Given the description of an element on the screen output the (x, y) to click on. 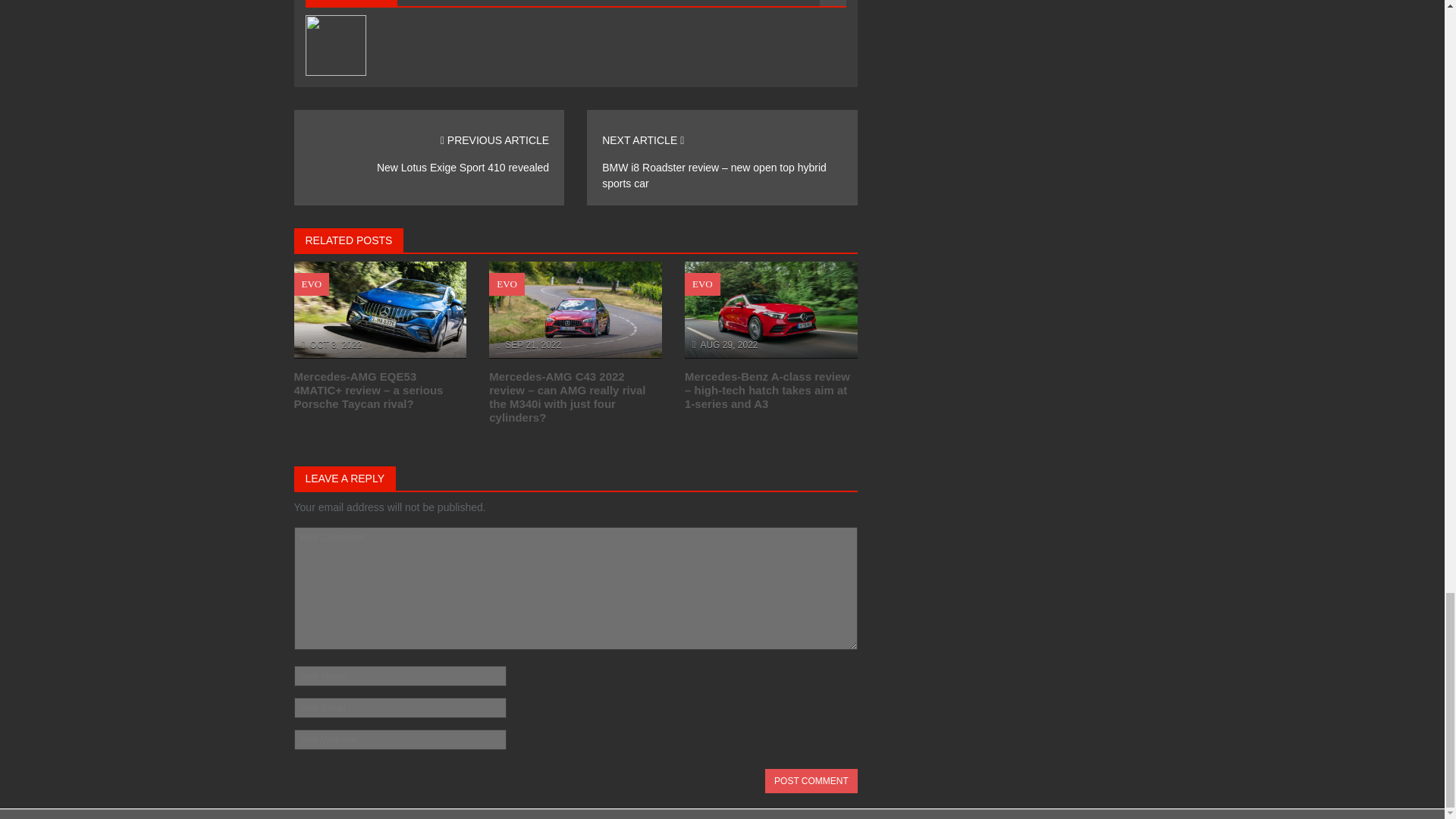
Monday, October 3, 2022, 2:40 pm (335, 344)
Post Comment (811, 781)
Monday, August 29, 2022, 3:22 pm (728, 344)
Wednesday, September 21, 2022, 1:15 pm (532, 344)
